Given the description of an element on the screen output the (x, y) to click on. 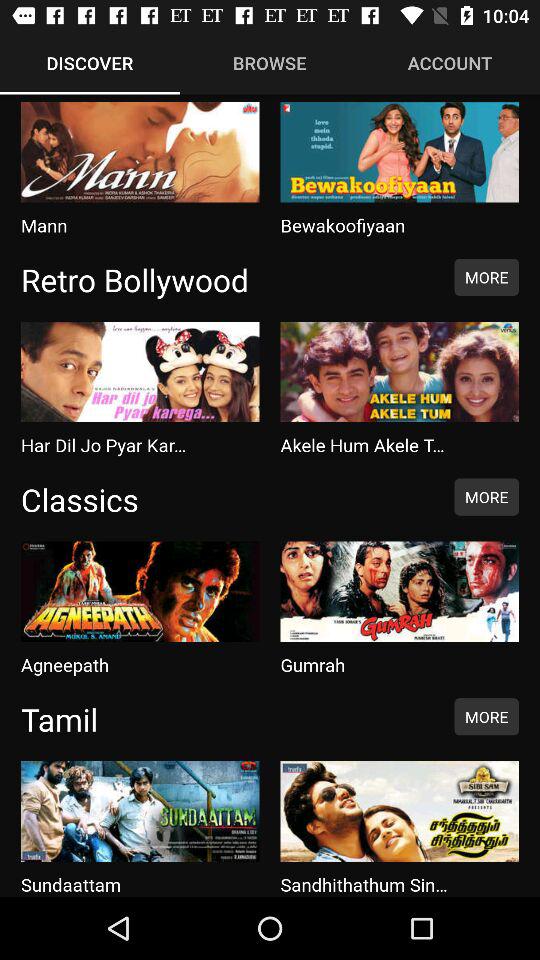
press retro bollywood icon (227, 279)
